Given the description of an element on the screen output the (x, y) to click on. 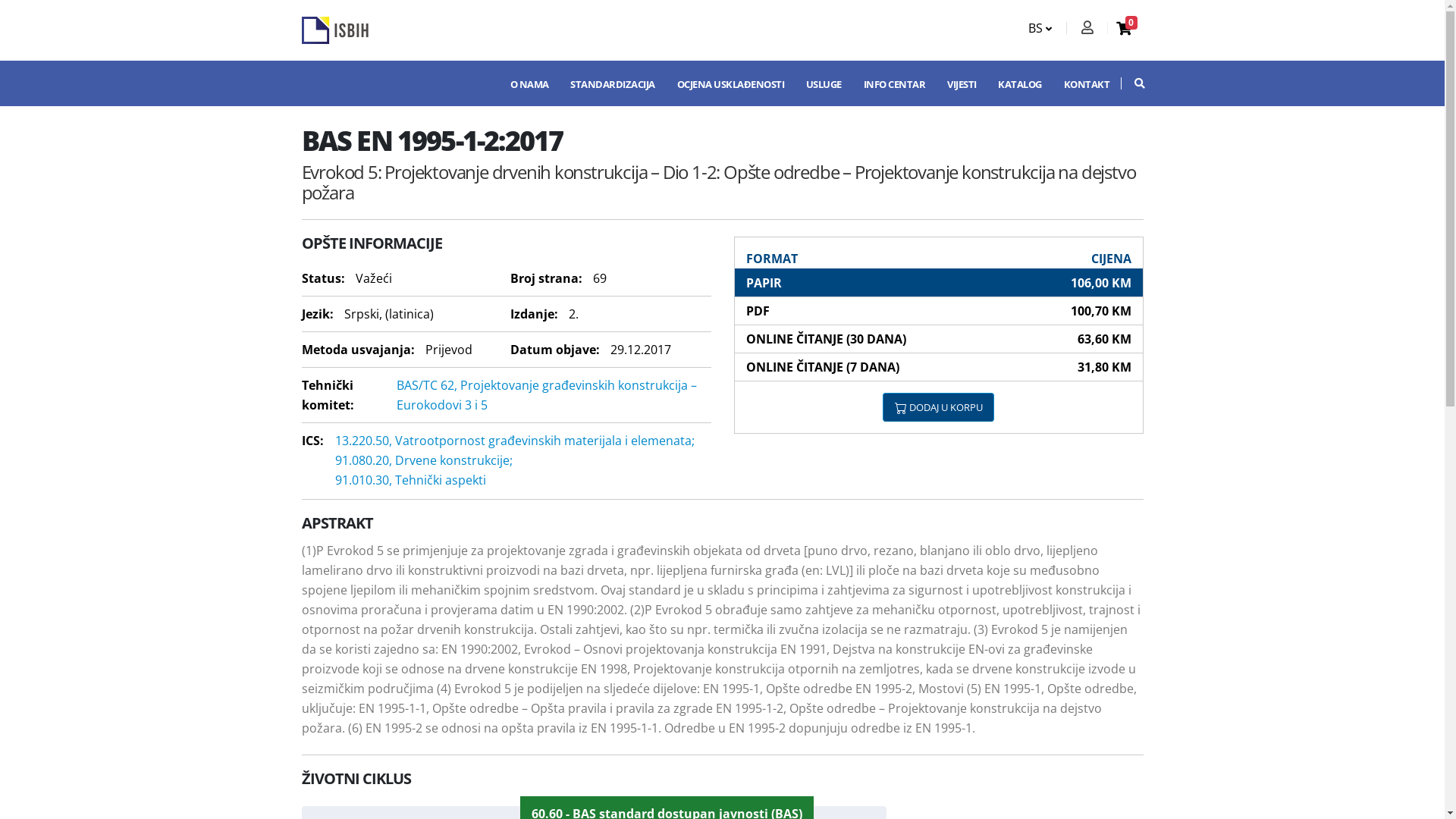
BS Element type: text (1043, 27)
USLUGE Element type: text (824, 83)
VIJESTI Element type: text (961, 83)
STANDARDIZACIJA Element type: text (612, 83)
DODAJ U KORPU Element type: text (938, 406)
KONTAKT Element type: text (1086, 83)
INFO CENTAR Element type: text (893, 83)
KATALOG Element type: text (1019, 83)
O NAMA Element type: text (528, 83)
91.080.20, Drvene konstrukcije; Element type: text (423, 459)
